Given the description of an element on the screen output the (x, y) to click on. 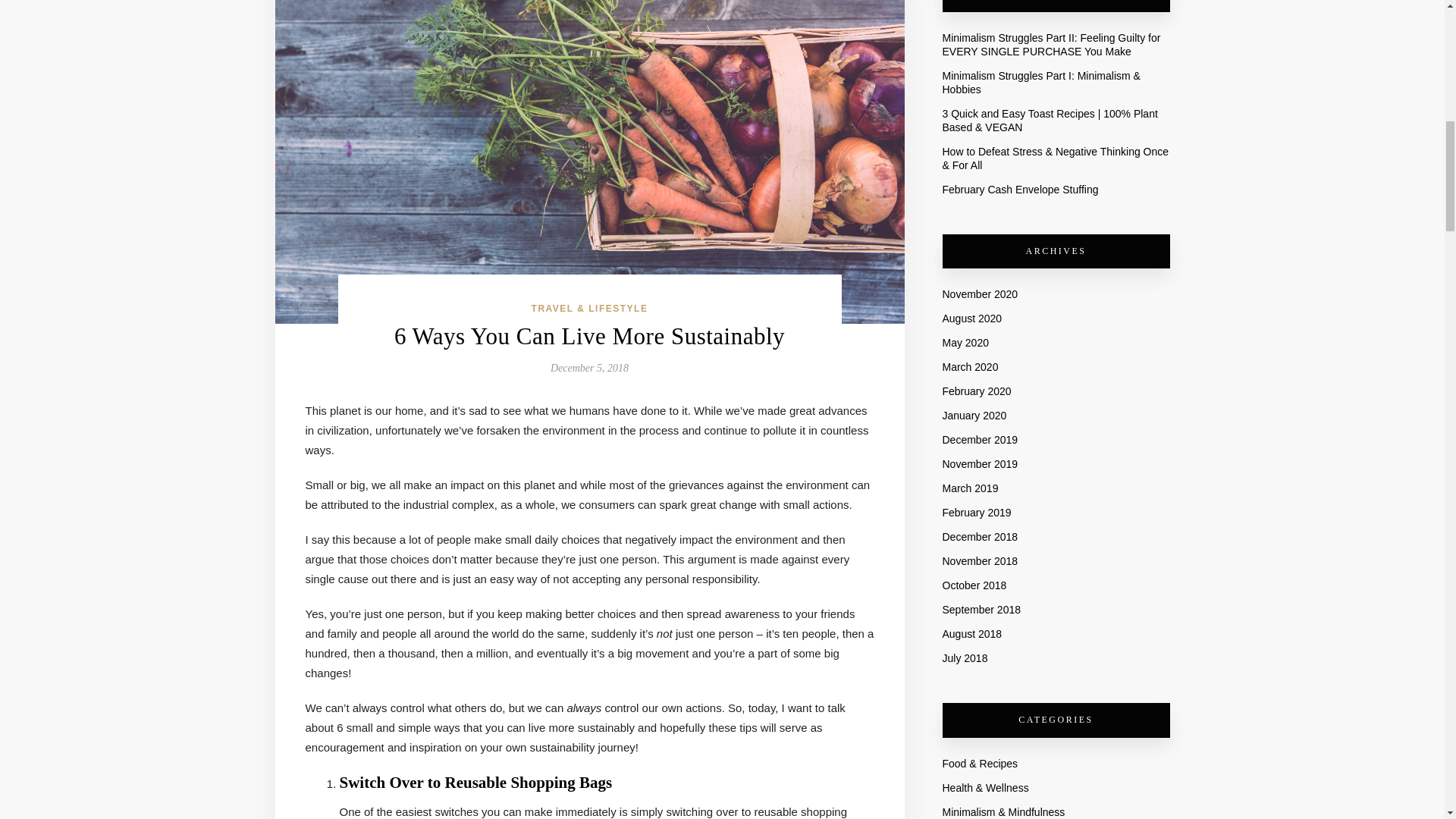
December 5, 2018 (589, 367)
